Given the description of an element on the screen output the (x, y) to click on. 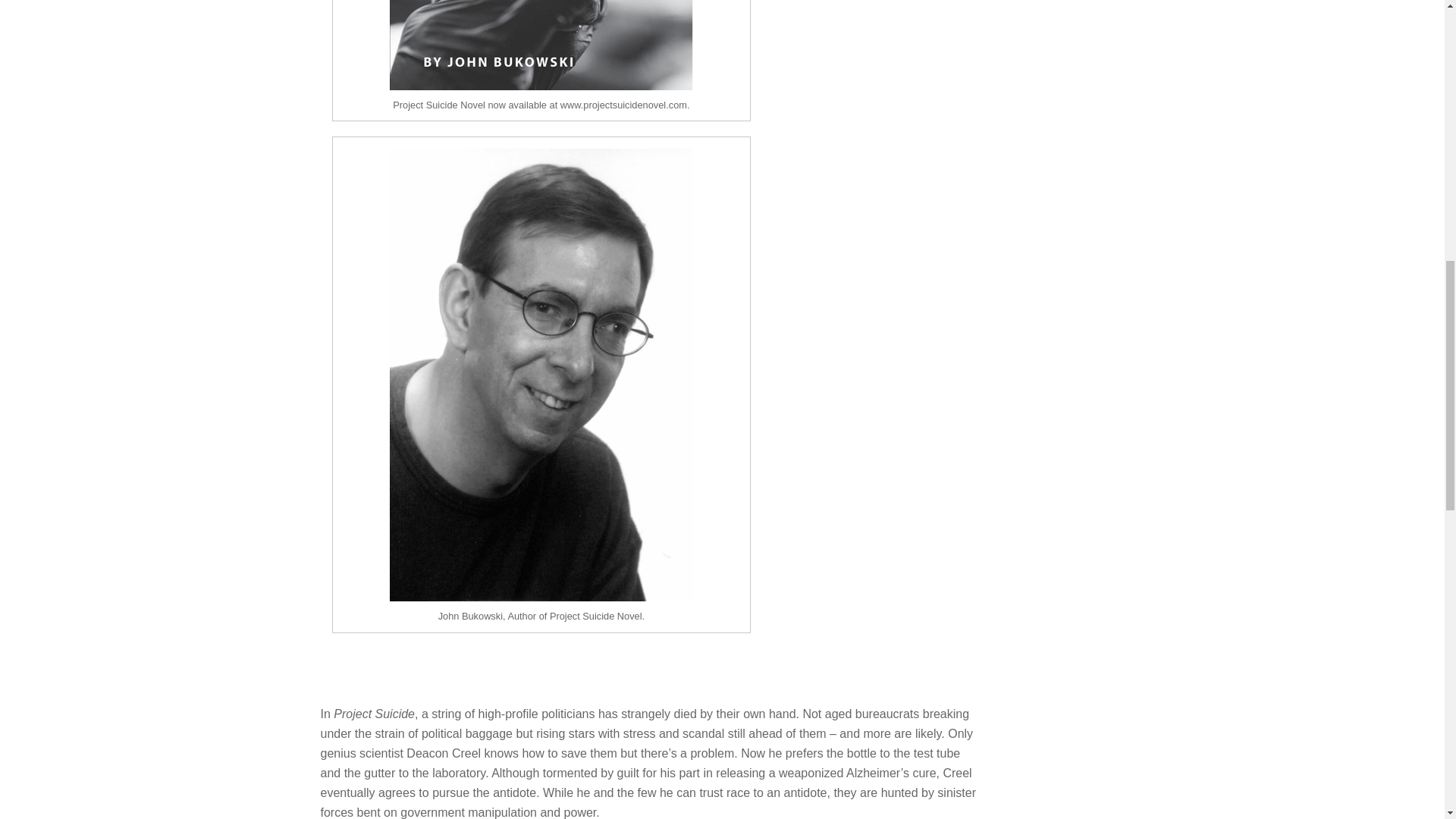
Scroll back to top (1406, 720)
